Given the description of an element on the screen output the (x, y) to click on. 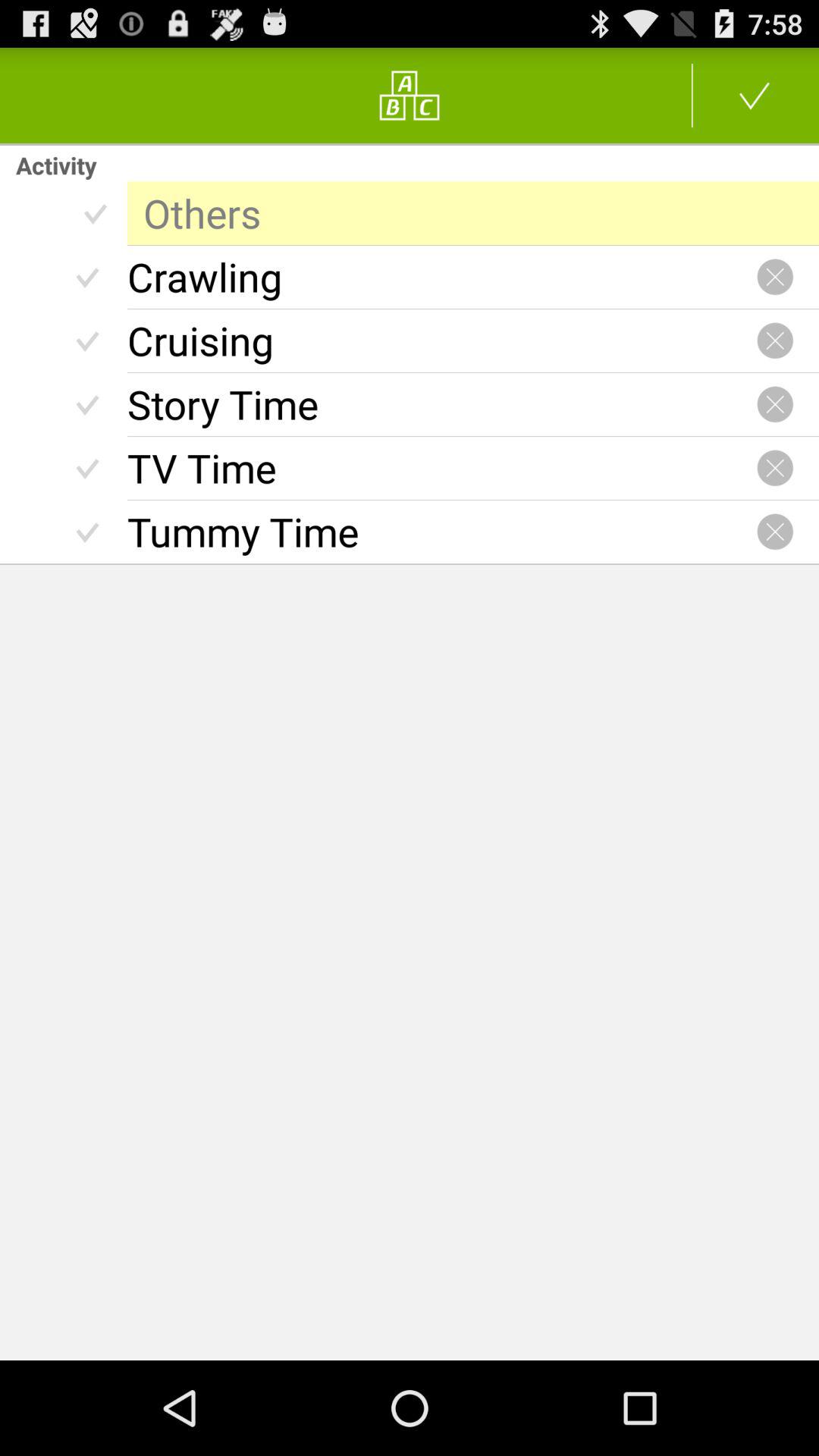
scroll to story time (441, 404)
